Given the description of an element on the screen output the (x, y) to click on. 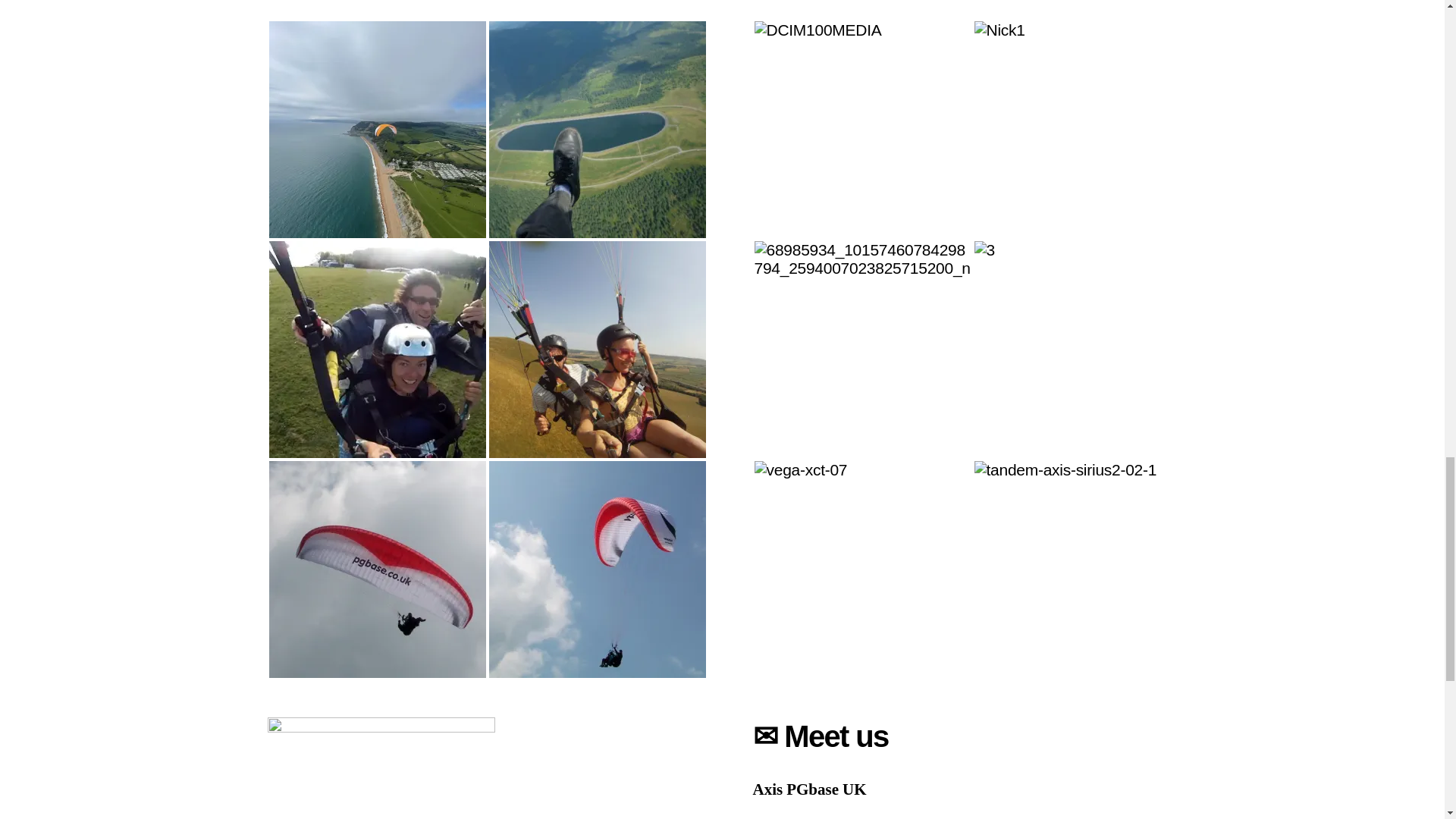
ow2 (595, 348)
pgbase-glider (375, 569)
vega-xct-07 (862, 569)
tandem-axis-sirius2-02-1 (1082, 569)
Nick1 (1082, 129)
ow1 (375, 348)
DCIM100MEDIA (862, 129)
IMGP7699 (595, 569)
3 (1082, 348)
P10206501 (595, 129)
